Given the description of an element on the screen output the (x, y) to click on. 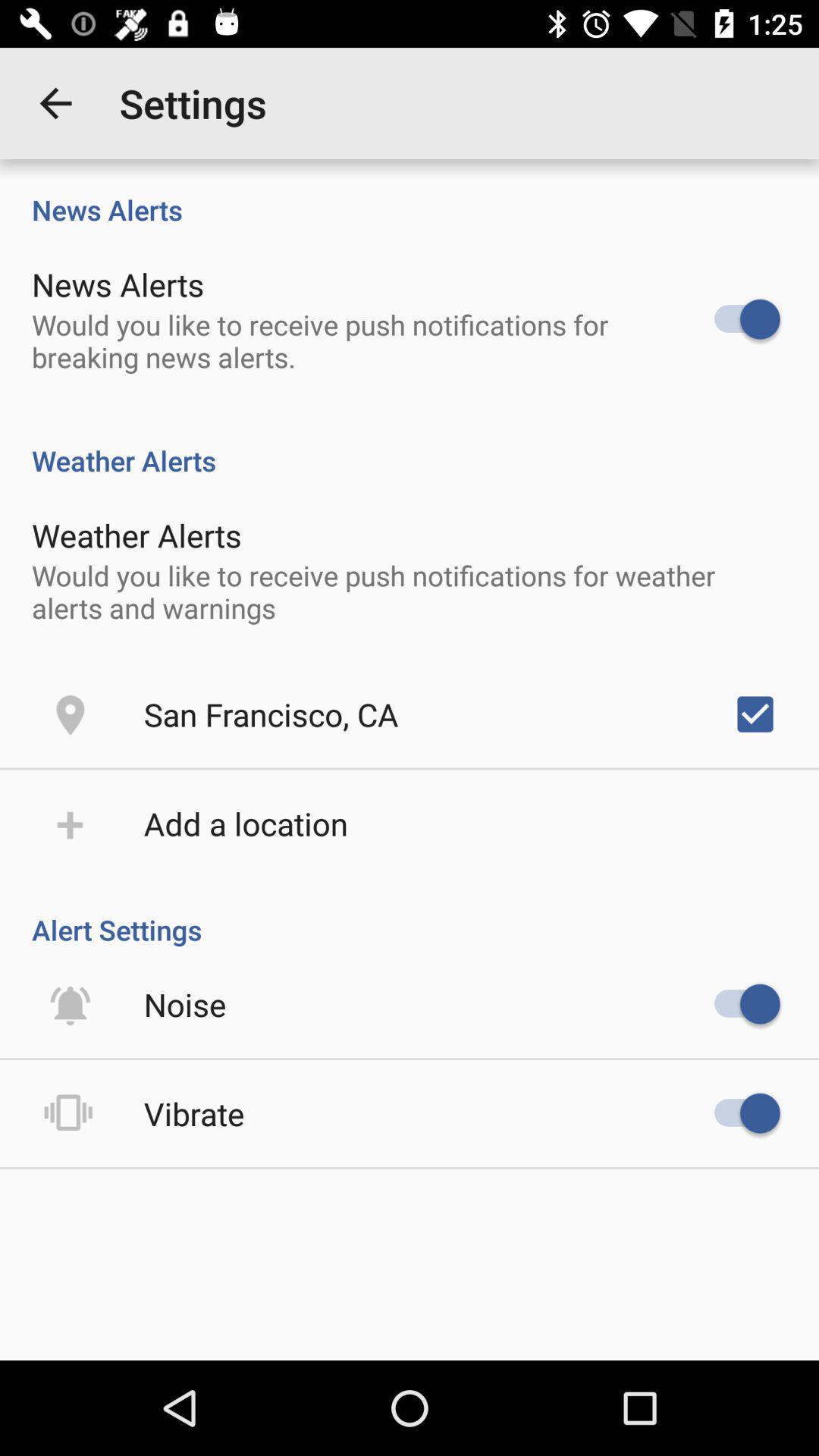
jump until alert settings (409, 913)
